Given the description of an element on the screen output the (x, y) to click on. 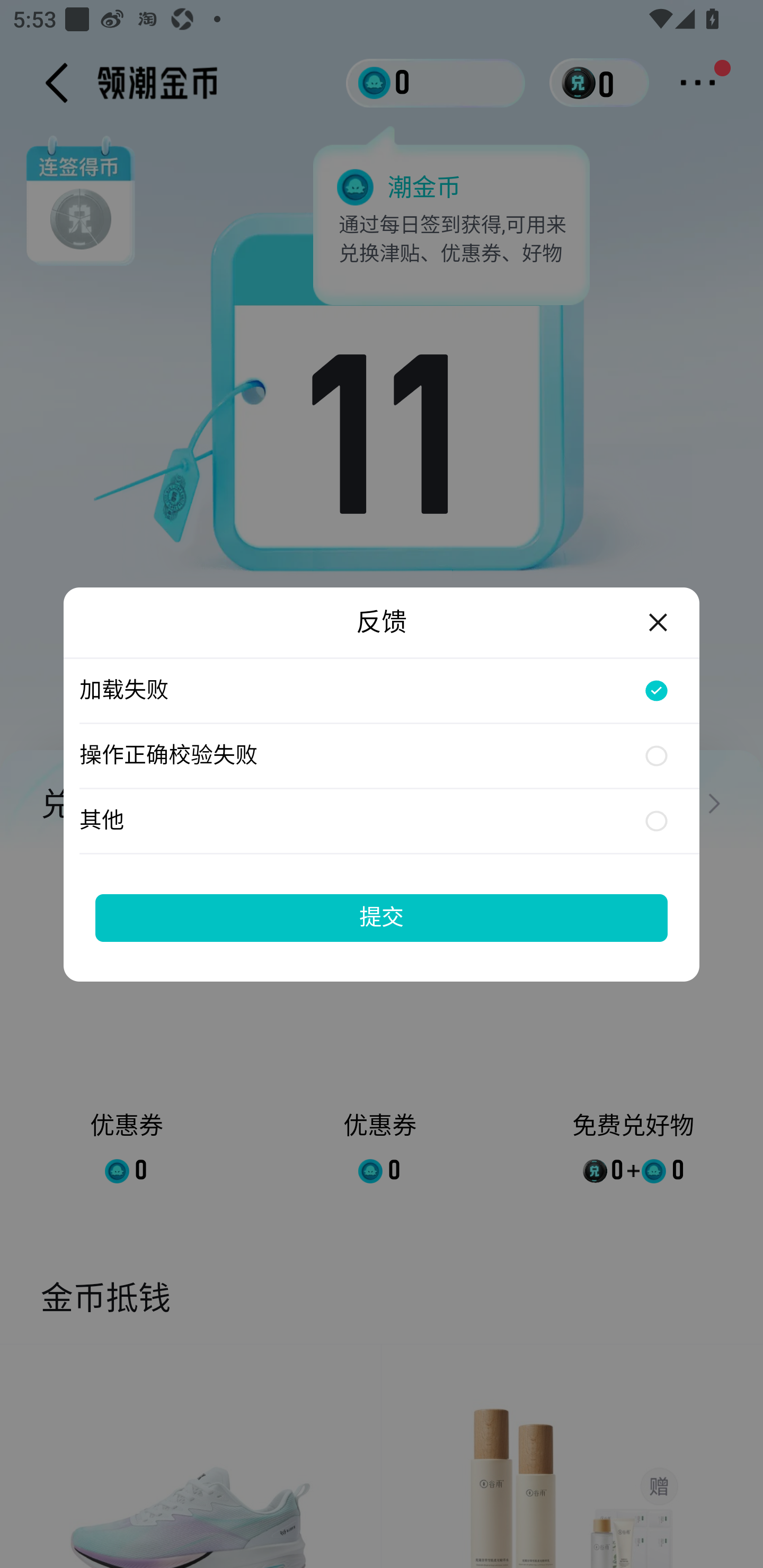
提交 (381, 917)
